Given the description of an element on the screen output the (x, y) to click on. 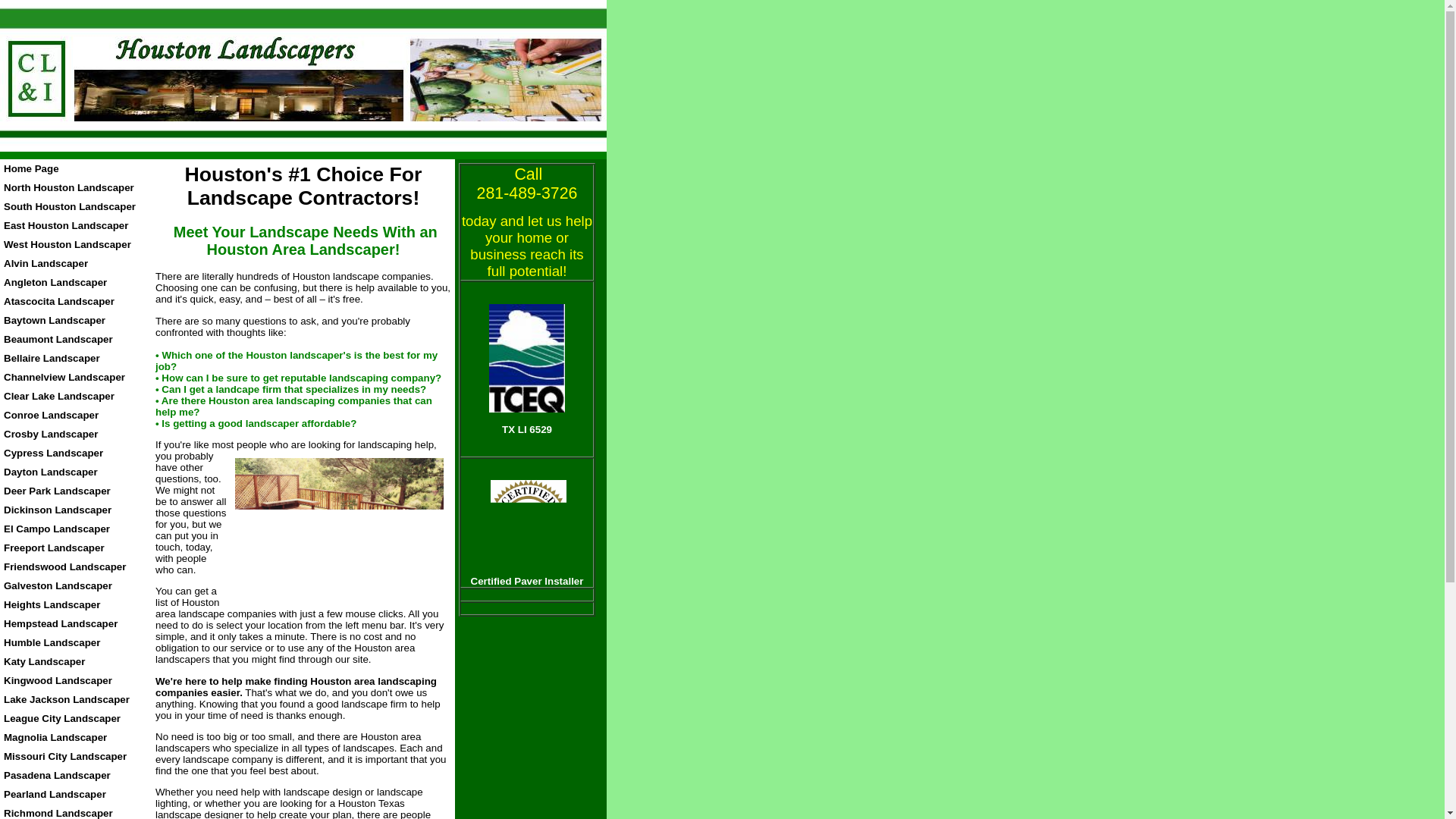
Dayton Landscaper (50, 471)
South Houston Landscaper (69, 206)
Angleton Landscaper (55, 282)
Cypress Landscaper (53, 452)
El Campo Landscaper (57, 528)
Richmond Landscaper (58, 813)
landscape deck (339, 528)
Magnolia Landscaper (55, 737)
Beaumont Landscaper (58, 338)
Deer Park Landscaper (57, 490)
East Houston Landscaper (66, 225)
Katy Landscaper (44, 661)
Crosby Landscaper (50, 433)
Clear Lake Landscaper (59, 396)
Baytown Landscaper (54, 319)
